Given the description of an element on the screen output the (x, y) to click on. 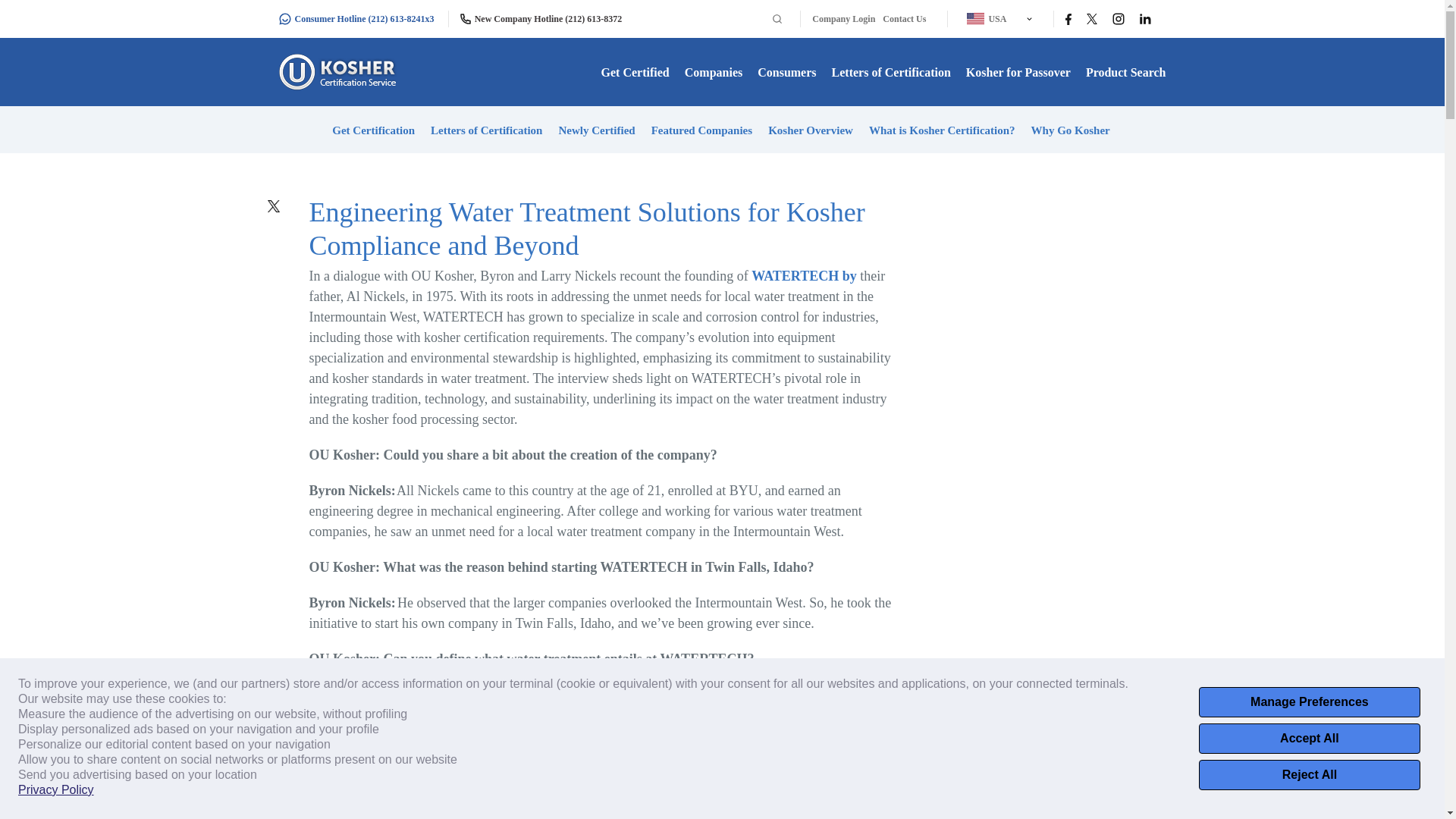
Company Login (843, 19)
Privacy Policy (55, 789)
Manage Preferences (1309, 702)
Accept All (1309, 738)
Reject All (1309, 775)
Get Certified (635, 72)
USA (994, 18)
OU Kosher Certification (339, 71)
Contact Us (904, 19)
